Given the description of an element on the screen output the (x, y) to click on. 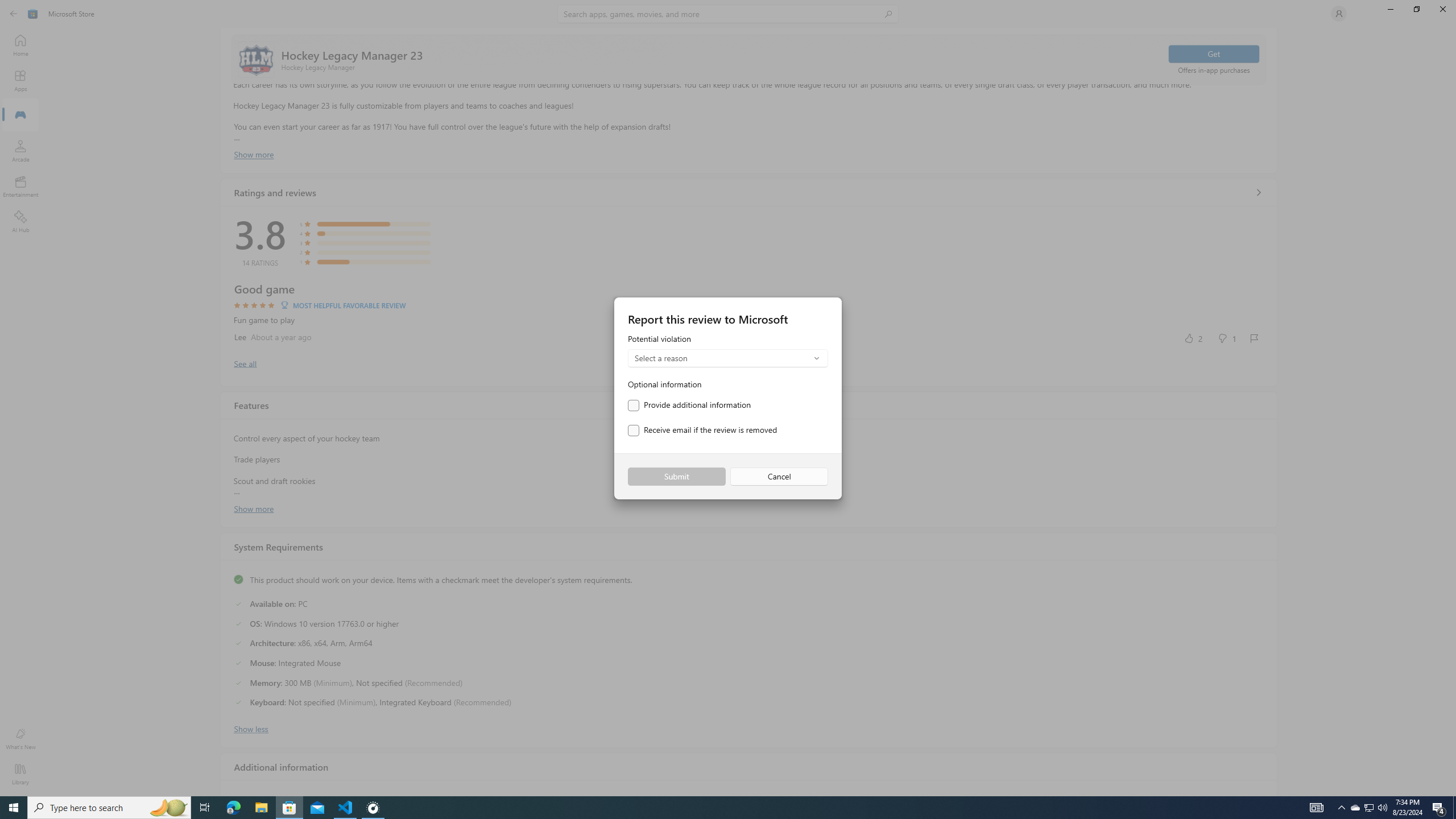
Library (20, 773)
Apps (20, 80)
Report review (1253, 338)
Provide additional information (689, 405)
Home (20, 45)
AI Hub (20, 221)
Close Microsoft Store (1442, 9)
Arcade (20, 150)
Search (727, 13)
Show all ratings and reviews (1258, 192)
Show less (250, 728)
What's New (20, 738)
No, this was not helpful. 1 votes. (1226, 338)
Gaming (20, 115)
Receive email if the review is removed (702, 430)
